Given the description of an element on the screen output the (x, y) to click on. 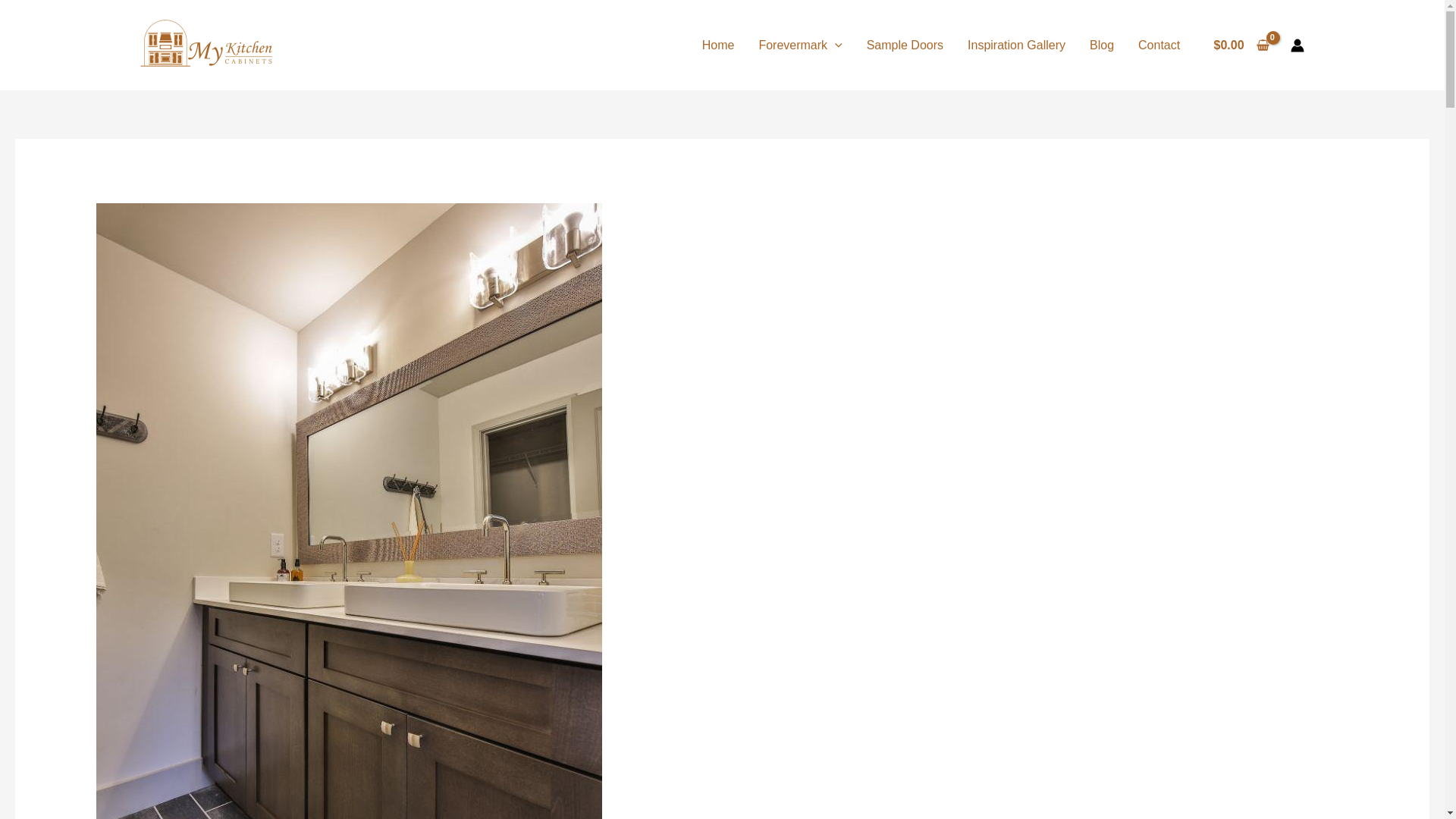
Sample Doors (904, 44)
Blog (1101, 44)
Contact (1158, 44)
Inspiration Gallery (1016, 44)
Home (718, 44)
Forevermark (799, 44)
